Given the description of an element on the screen output the (x, y) to click on. 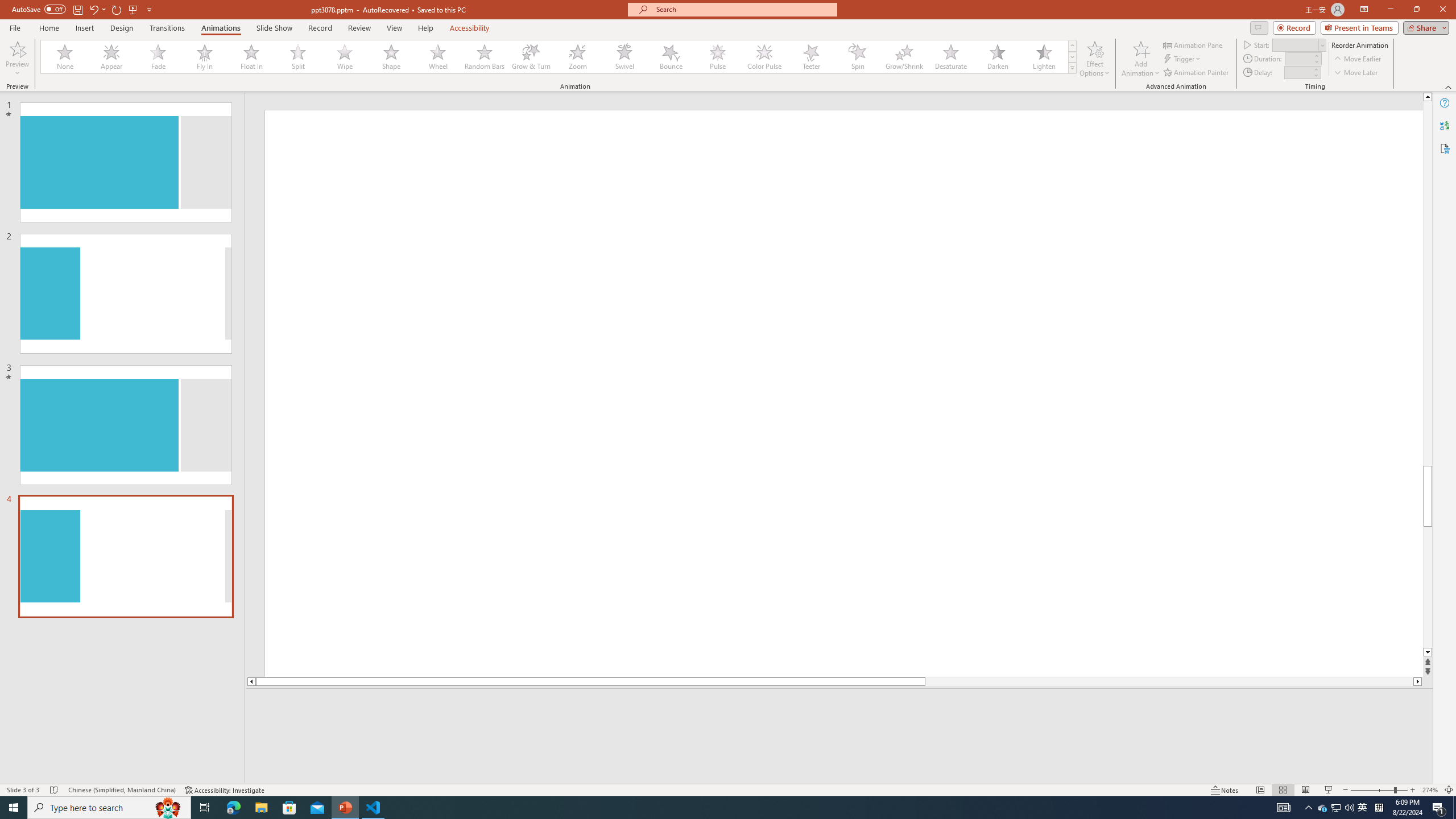
Float In (251, 56)
Page down (1427, 586)
Preview (17, 58)
None (65, 56)
Wipe (344, 56)
Fade (158, 56)
